Given the description of an element on the screen output the (x, y) to click on. 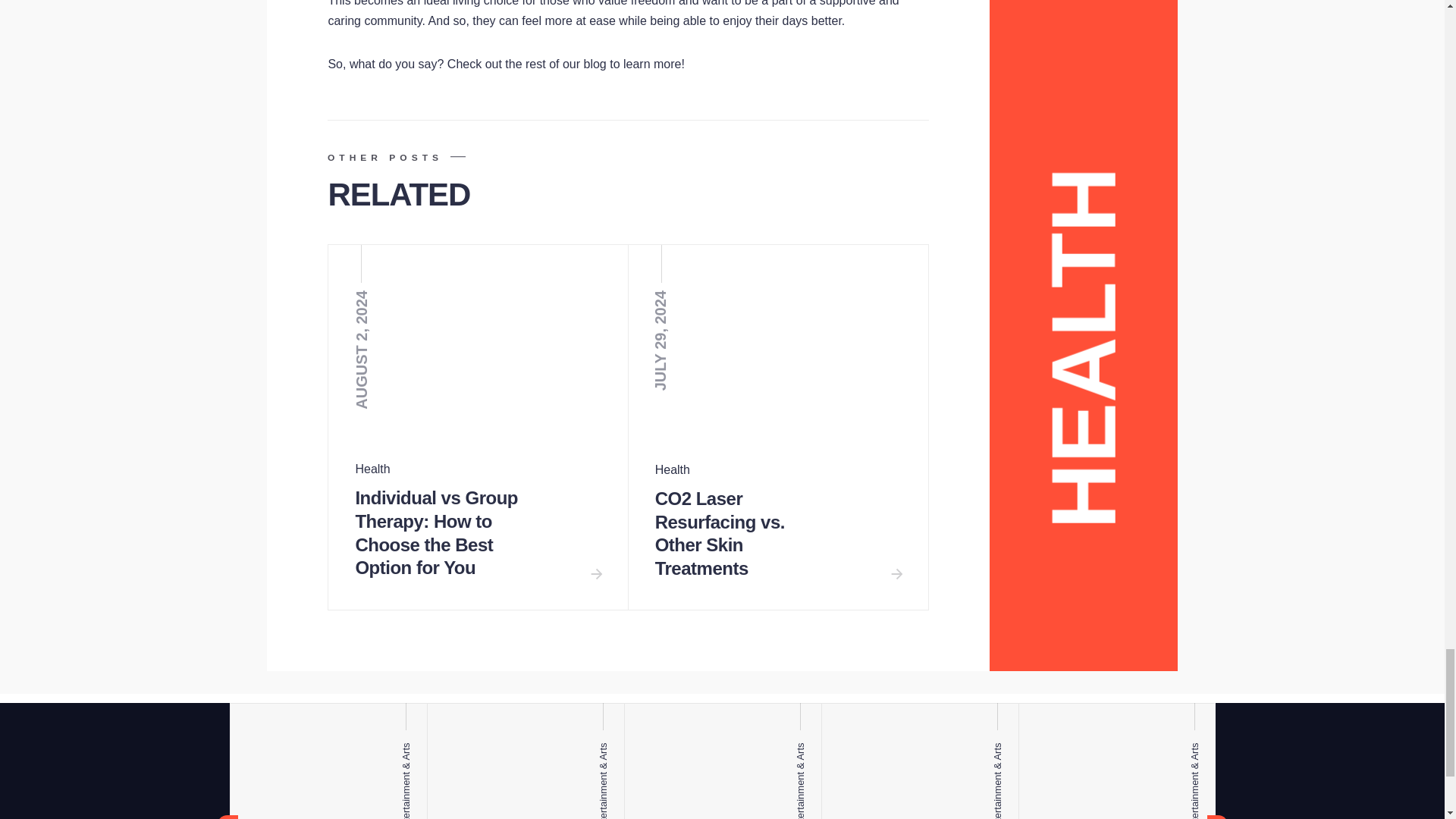
Health (372, 468)
